Given the description of an element on the screen output the (x, y) to click on. 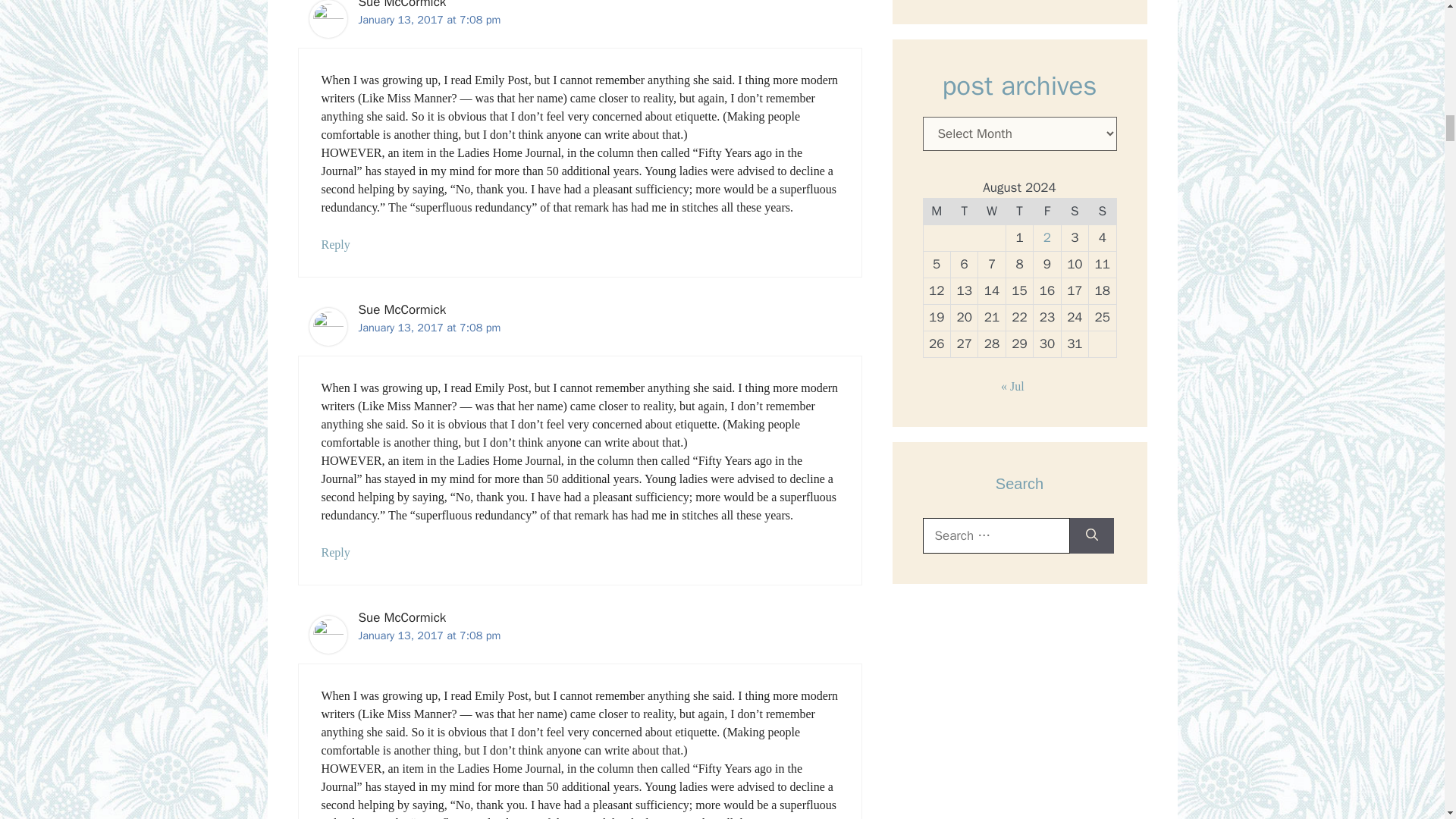
Thursday (1019, 211)
Monday (936, 211)
Wednesday (992, 211)
January 13, 2017 at 7:08 pm (429, 635)
January 13, 2017 at 7:08 pm (429, 327)
Friday (1047, 211)
Reply (335, 552)
Tuesday (963, 211)
January 13, 2017 at 7:08 pm (429, 19)
Reply (335, 244)
